Given the description of an element on the screen output the (x, y) to click on. 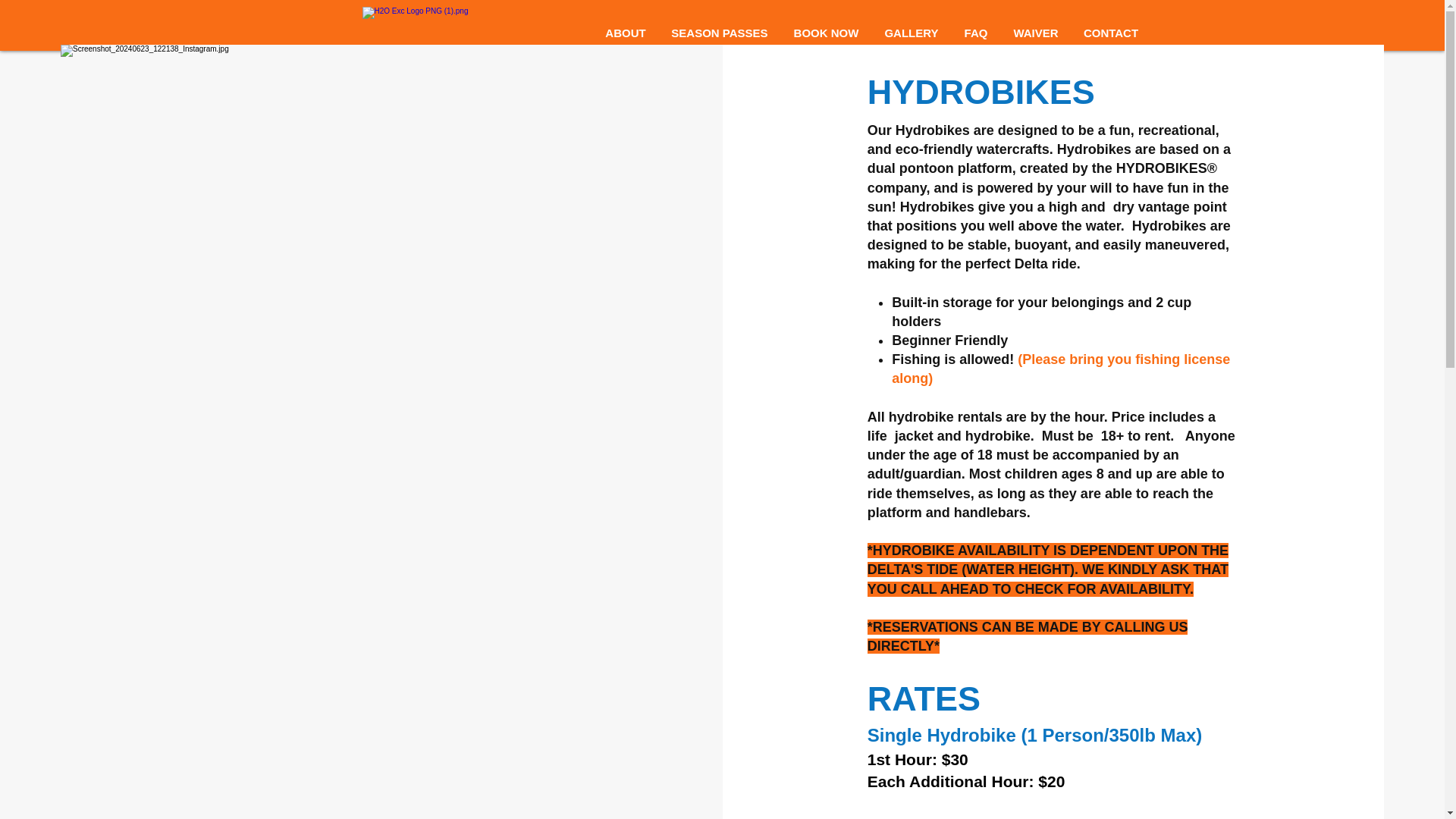
ABOUT (625, 33)
WAIVER (1036, 33)
CONTACT (1110, 33)
GALLERY (912, 33)
SEASON PASSES (719, 33)
FAQ (975, 33)
BOOK NOW (826, 33)
